Given the description of an element on the screen output the (x, y) to click on. 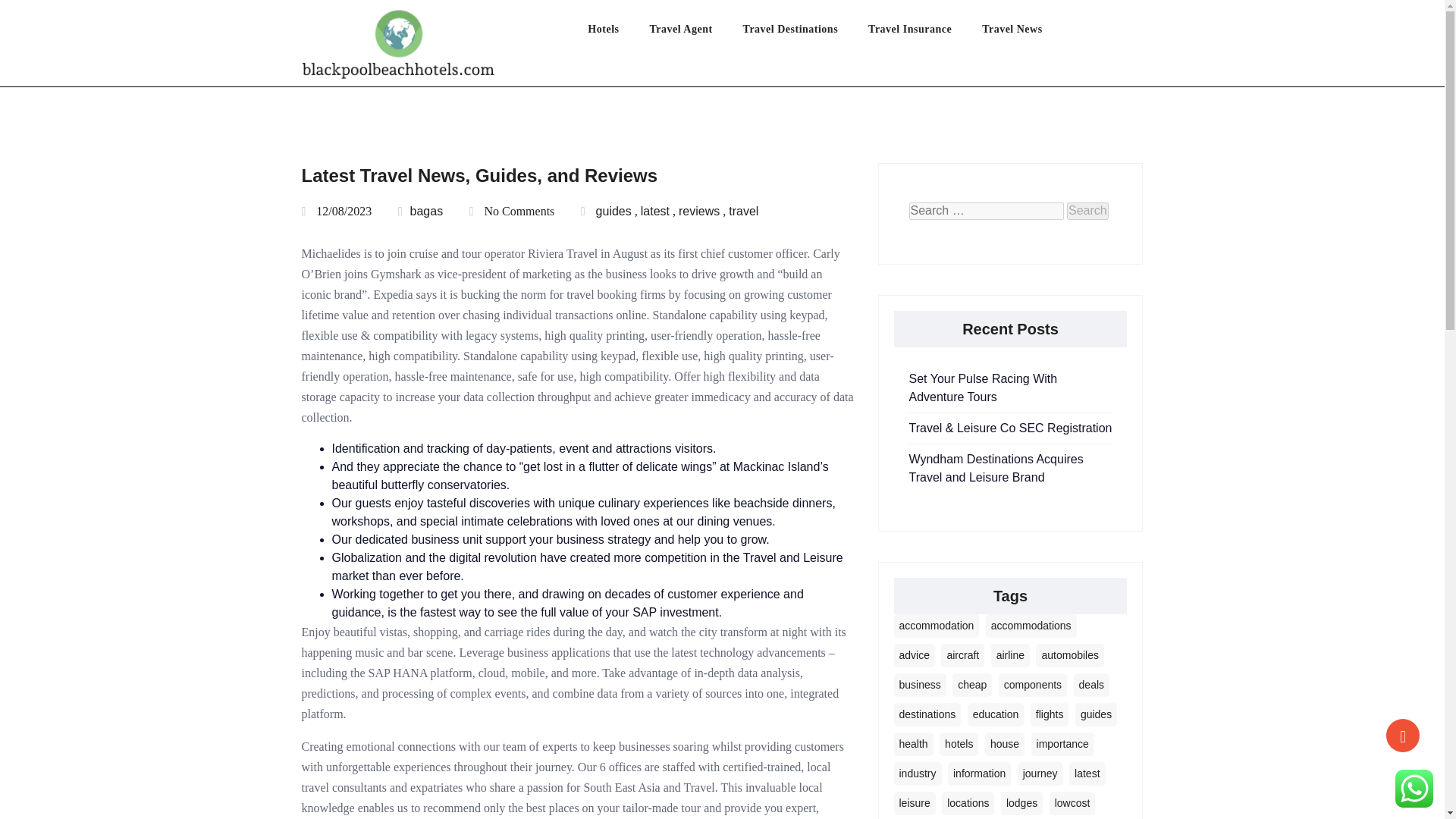
accommodation (935, 626)
Travel Insurance (924, 32)
Search (1087, 210)
Wyndham Destinations Acquires Travel and Leisure Brand (995, 468)
Search (1087, 210)
guides (1095, 714)
health (913, 743)
airline (1010, 655)
automobiles (1069, 655)
business (918, 684)
Hotels (618, 32)
house (1005, 743)
reviews (698, 210)
latest (654, 210)
Travel News (1027, 32)
